Given the description of an element on the screen output the (x, y) to click on. 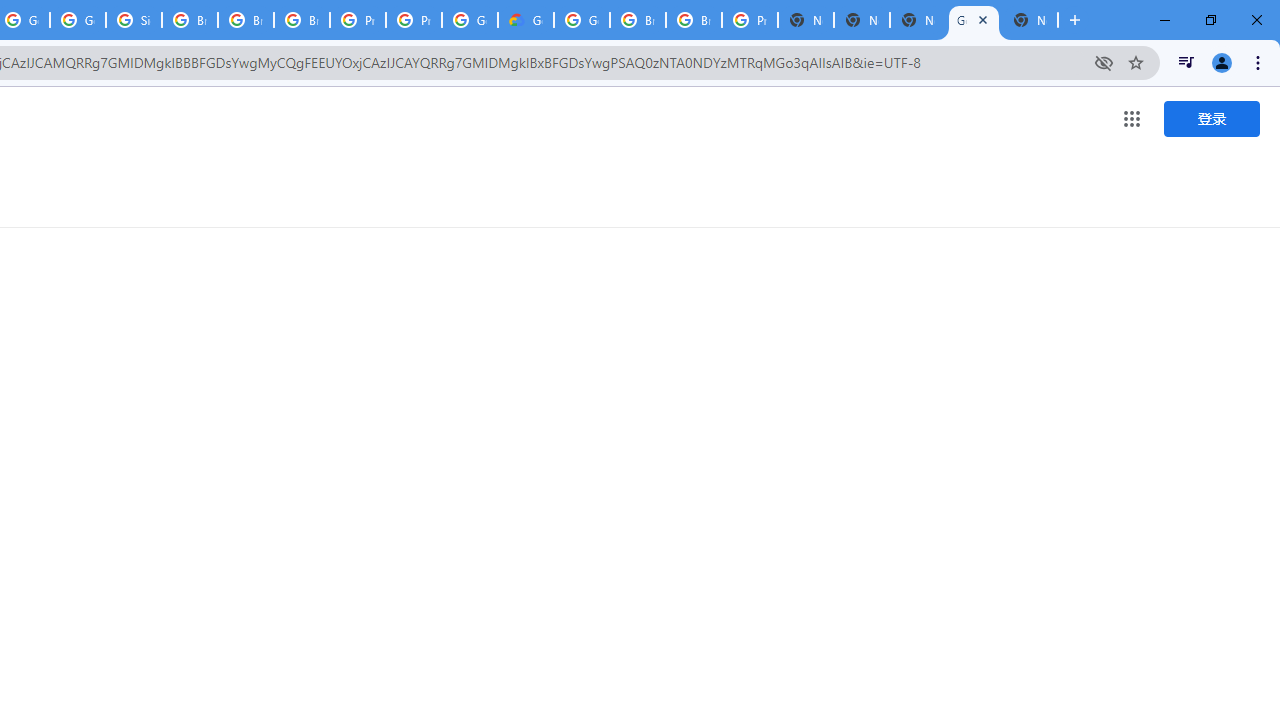
Sign in - Google Accounts (134, 20)
Google Cloud Estimate Summary (525, 20)
Browse Chrome as a guest - Computer - Google Chrome Help (189, 20)
Google Cloud Platform (582, 20)
Google Cloud Platform (469, 20)
Browse Chrome as a guest - Computer - Google Chrome Help (245, 20)
